Given the description of an element on the screen output the (x, y) to click on. 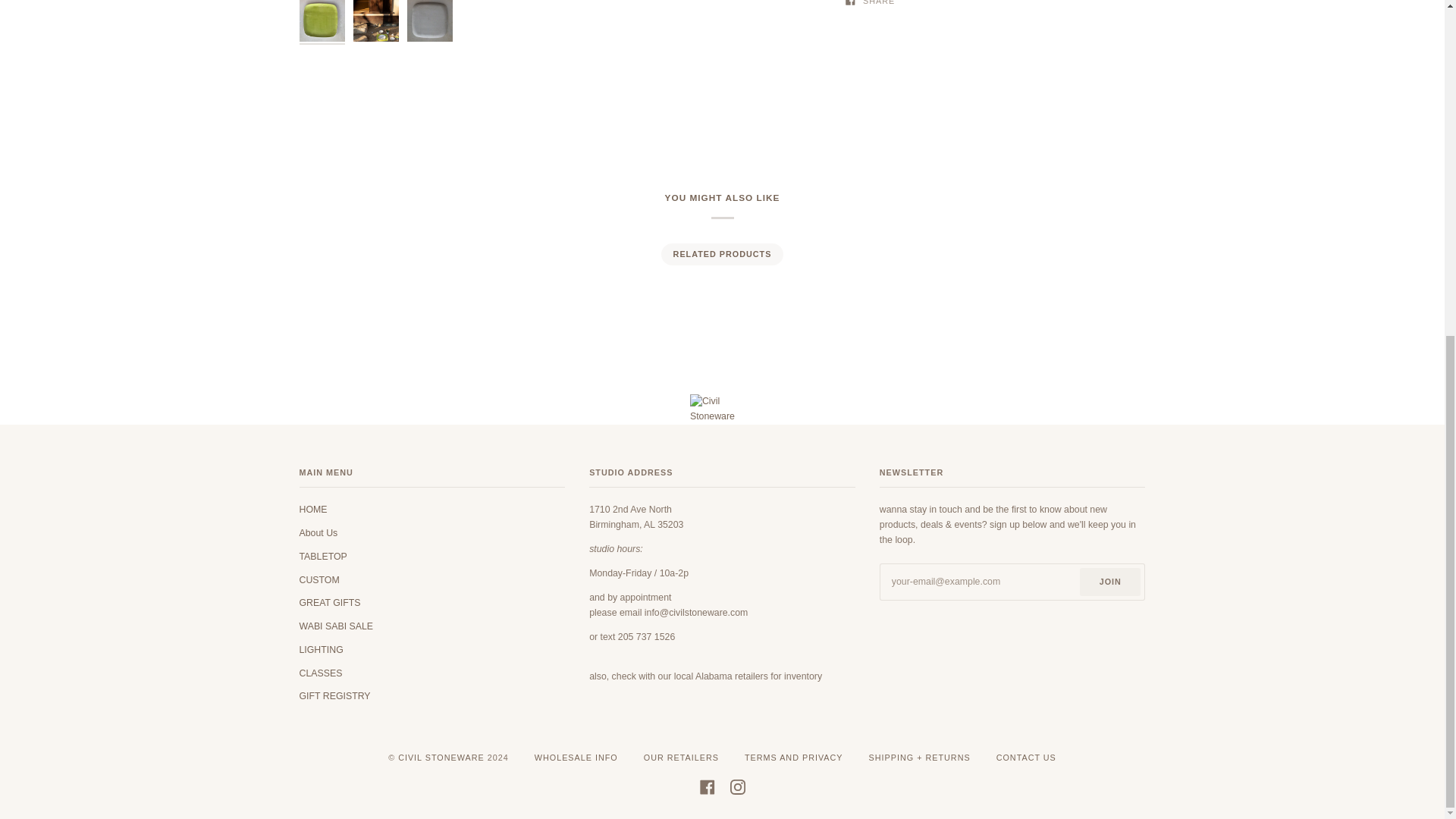
RELATED PRODUCTS (721, 254)
Instagram (736, 786)
Facebook (706, 786)
